Given the description of an element on the screen output the (x, y) to click on. 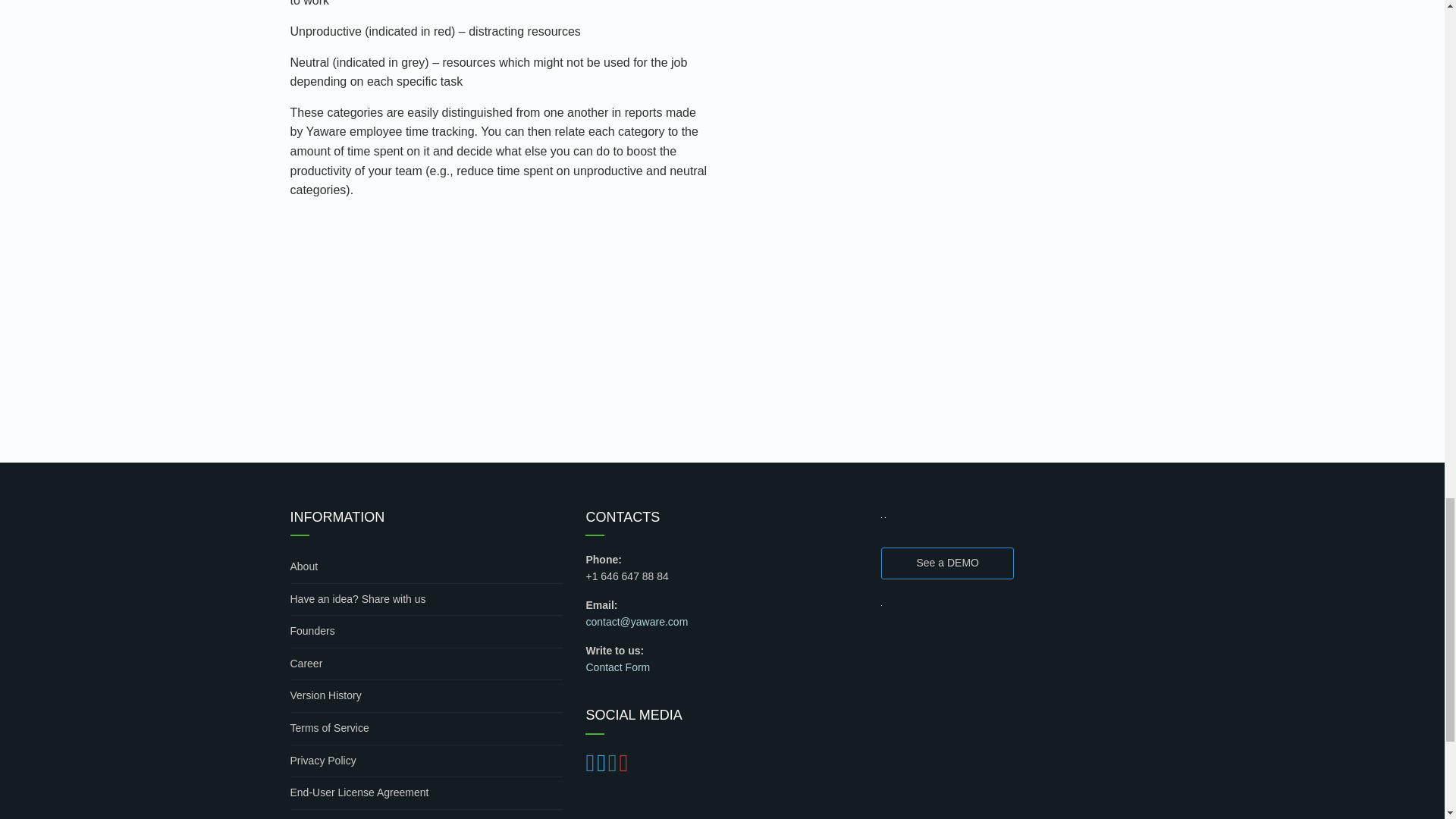
Please read terms of service (425, 728)
Please read privacy policy (425, 761)
